Given the description of an element on the screen output the (x, y) to click on. 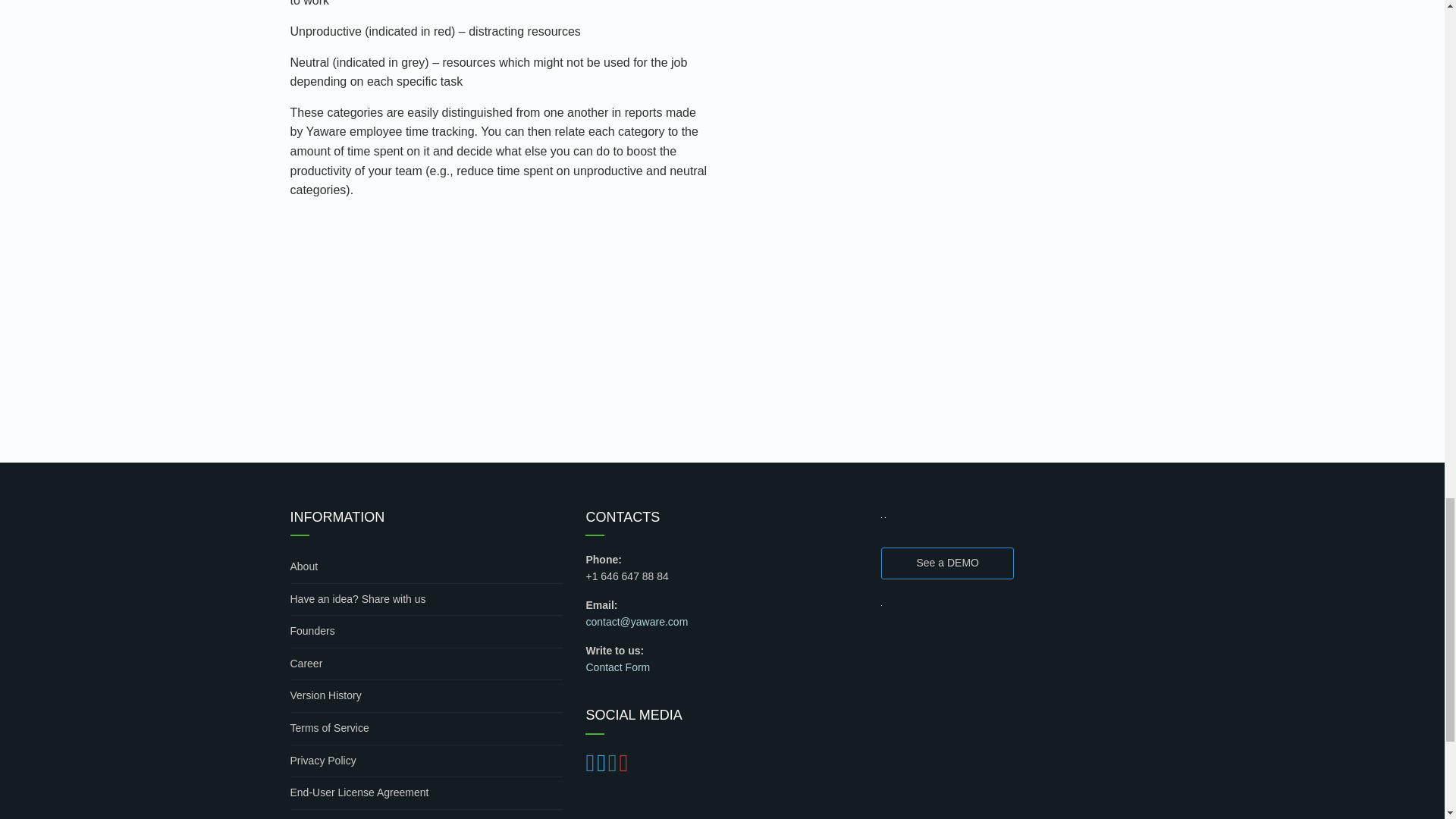
Please read terms of service (425, 728)
Please read privacy policy (425, 761)
